Given the description of an element on the screen output the (x, y) to click on. 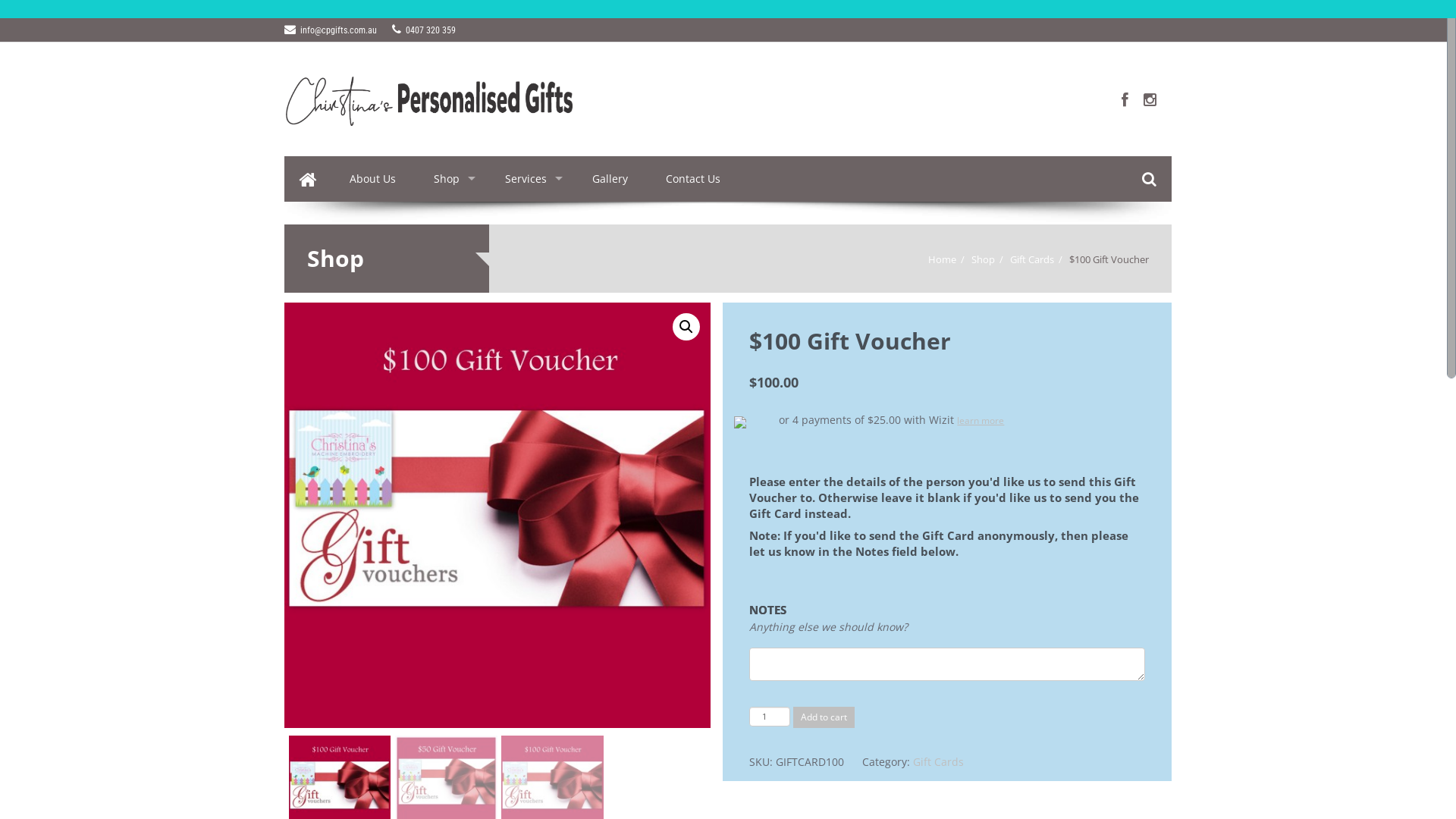
Shop Element type: text (450, 178)
Gallery Element type: text (609, 178)
learn more Element type: text (980, 420)
100 gift voucher Element type: hover (497, 515)
Add to cart Element type: text (823, 717)
  0407 320 359 Element type: text (423, 29)
Home Element type: text (942, 259)
Gift Cards Element type: text (938, 761)
Shop Element type: text (982, 259)
  info@cpgifts.com.au Element type: text (330, 29)
Gift Cards Element type: text (1032, 259)
Services Element type: text (529, 178)
Contact Us Element type: text (692, 178)
About Us Element type: text (372, 178)
